Given the description of an element on the screen output the (x, y) to click on. 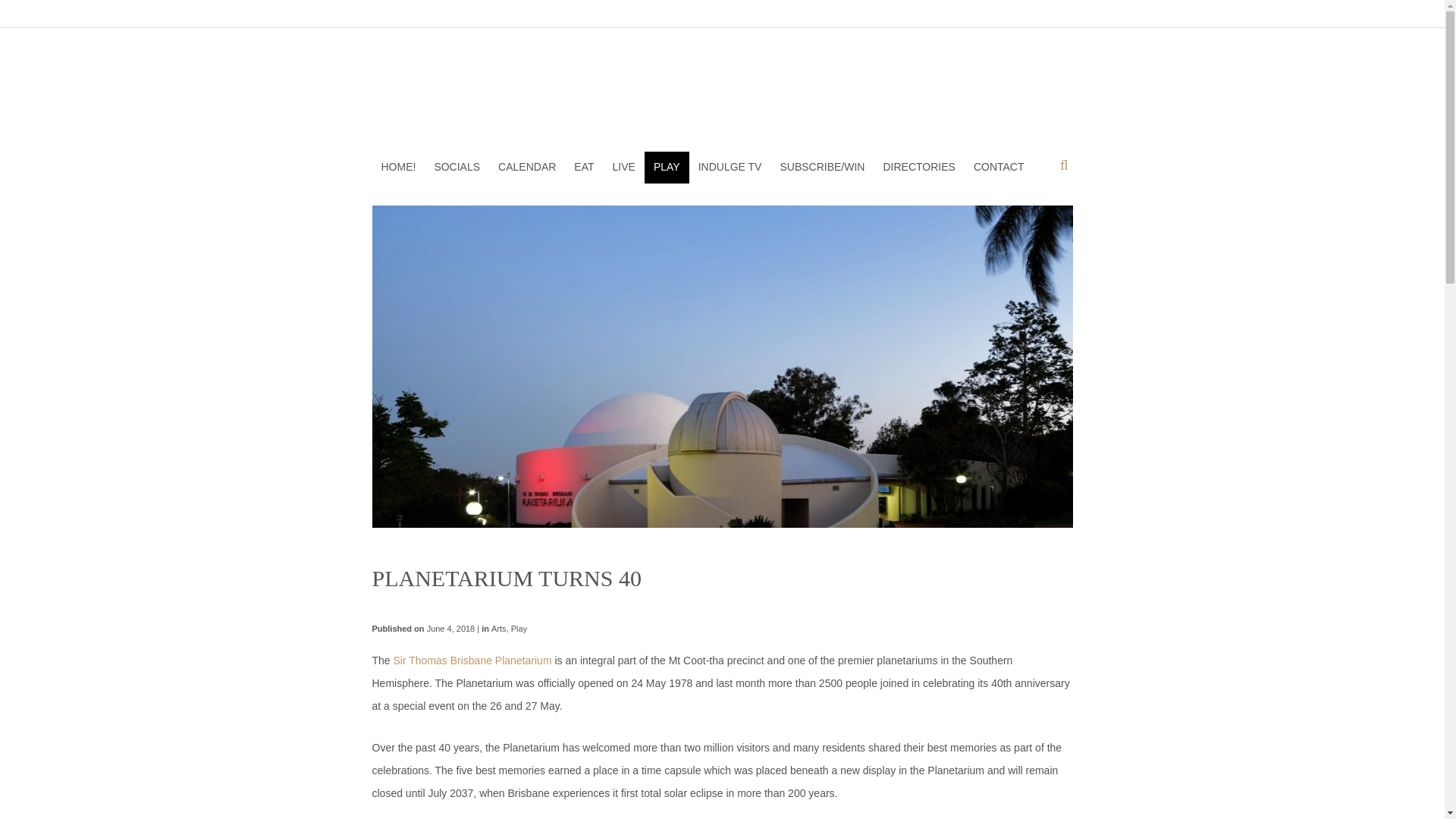
HOME! (398, 167)
EAT (583, 167)
CONTACT (998, 167)
INDULGE TV (729, 167)
Indulge Magazine (721, 92)
SOCIALS (457, 167)
CALENDAR (526, 167)
PLAY (666, 167)
LIVE (624, 167)
DIRECTORIES (918, 167)
